Given the description of an element on the screen output the (x, y) to click on. 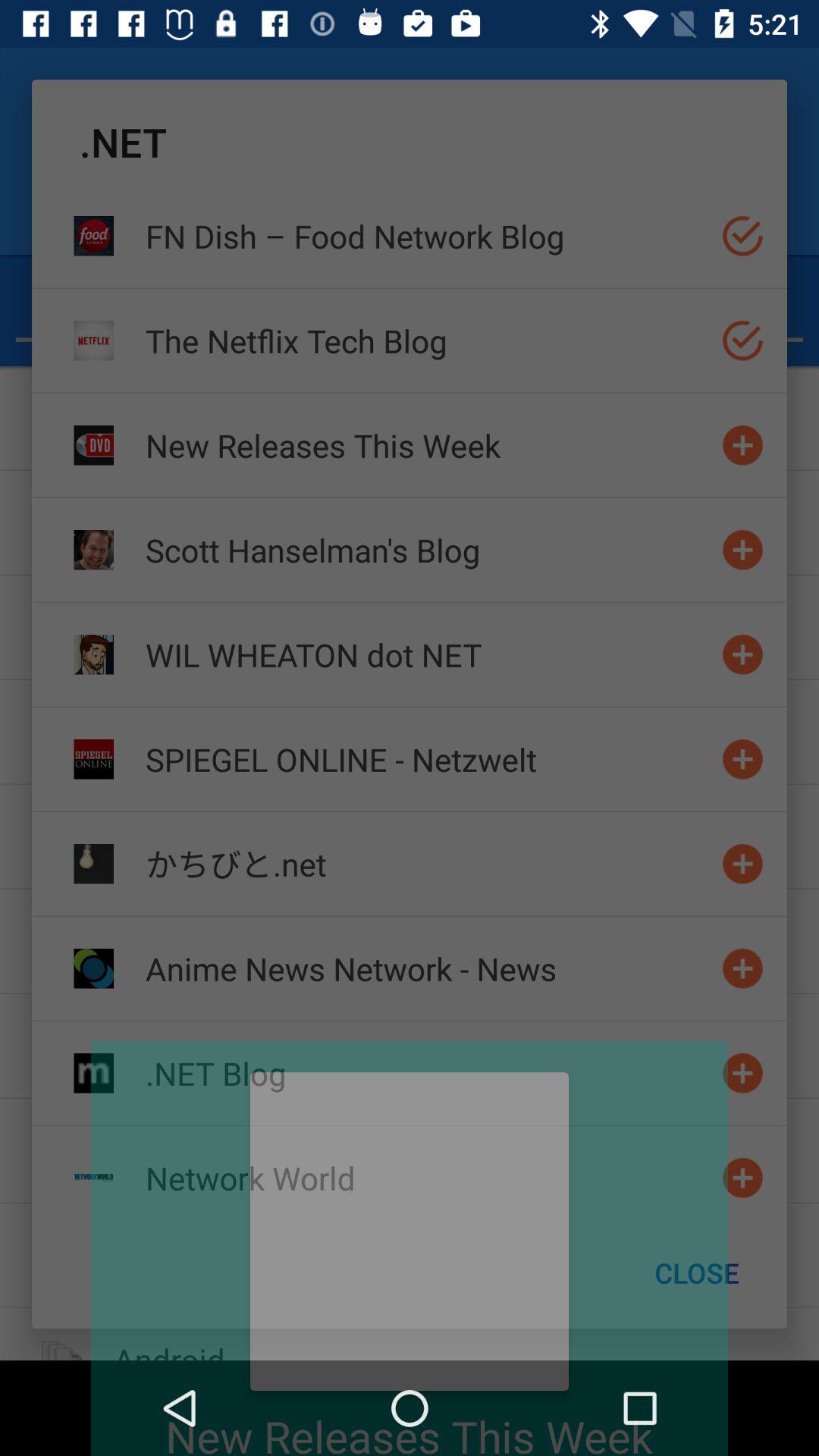
add scott hanselman 's blog (742, 549)
